Given the description of an element on the screen output the (x, y) to click on. 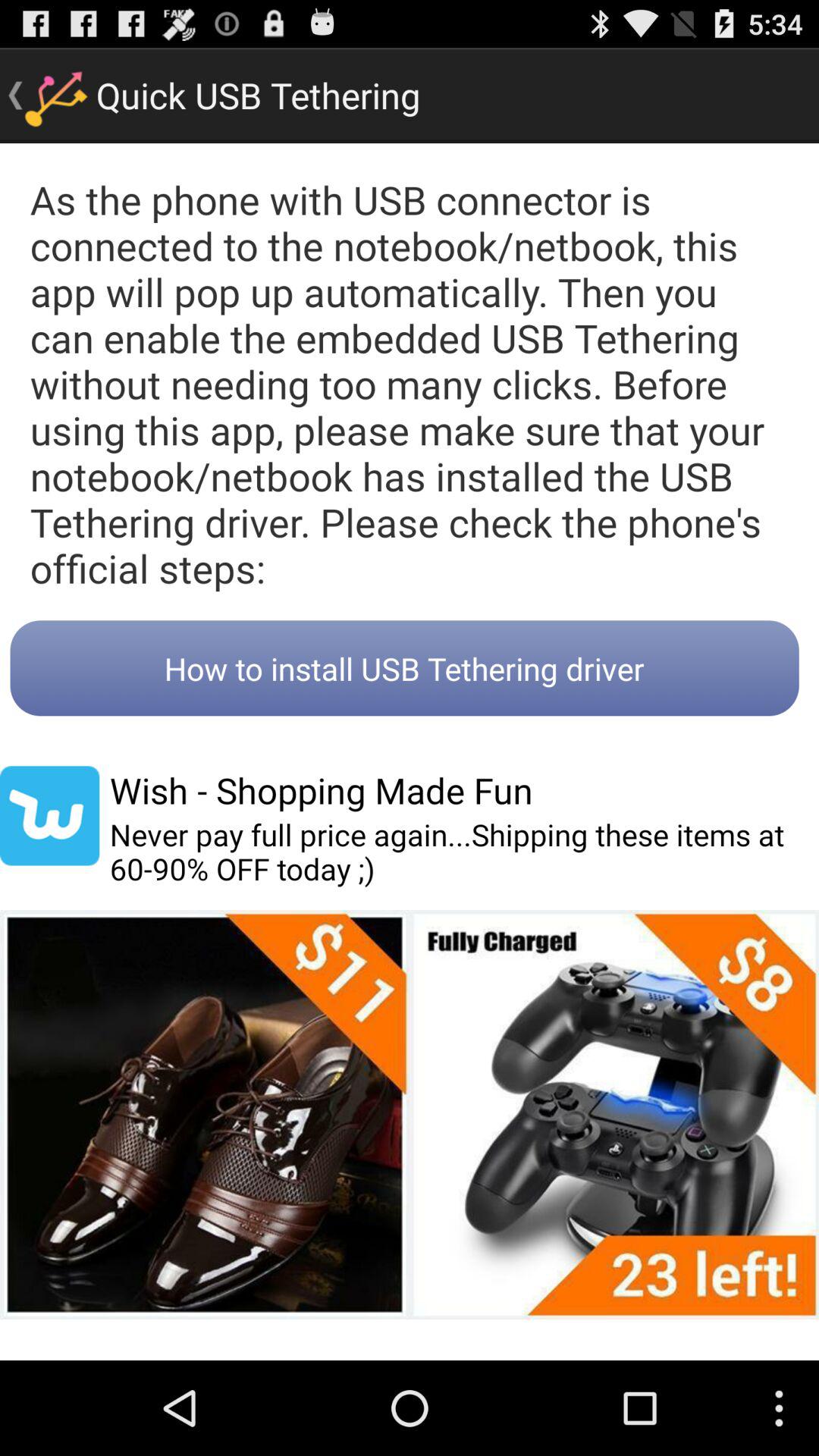
launch icon at the bottom (409, 1114)
